Given the description of an element on the screen output the (x, y) to click on. 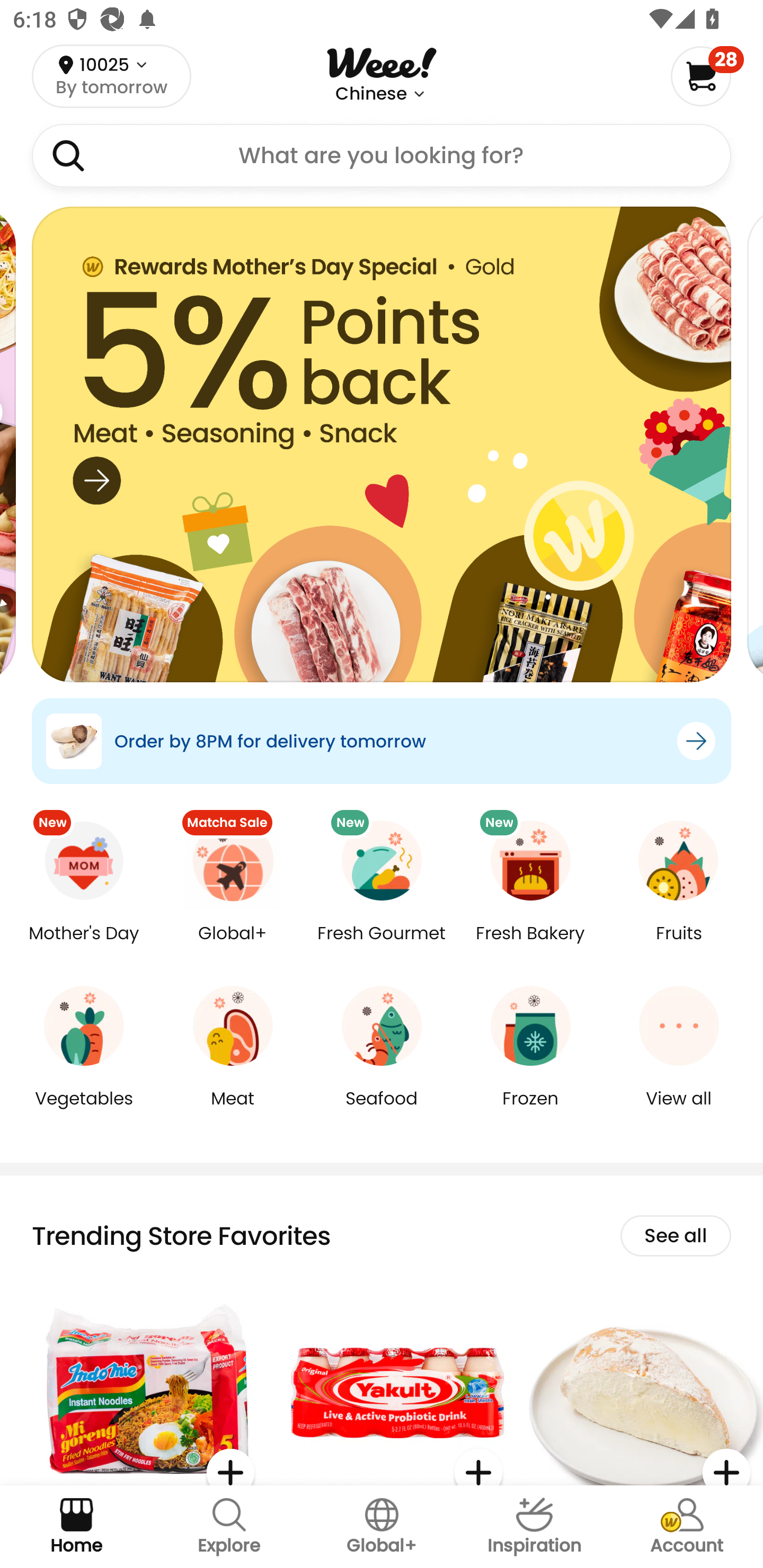
10025 By tomorrow (111, 75)
28 (706, 75)
Chinese (370, 93)
What are you looking for? (381, 155)
Order by 8PM for delivery tomorrow (381, 740)
Mother's Day (83, 946)
Global+ (232, 946)
Fresh Gourmet (381, 946)
Fresh Bakery (530, 946)
Fruits (678, 946)
Vegetables (83, 1111)
Meat (232, 1111)
Seafood (381, 1111)
Frozen (530, 1111)
View all (678, 1111)
Home (76, 1526)
Explore (228, 1526)
Global+ (381, 1526)
Inspiration (533, 1526)
Account (686, 1526)
